Given the description of an element on the screen output the (x, y) to click on. 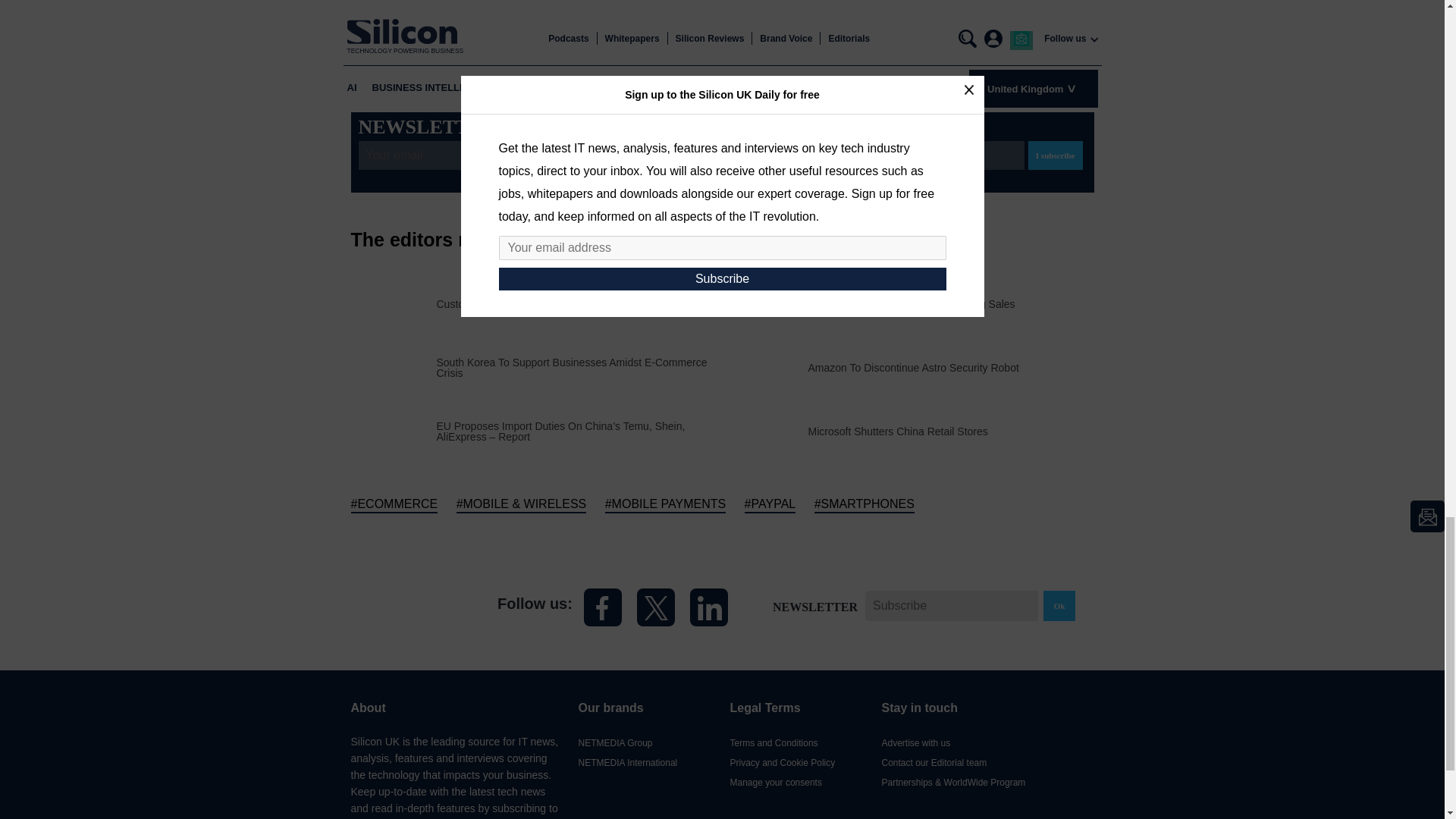
South Korea To Support Businesses Amidst E-Commerce Crisis (579, 367)
50 (705, 1)
Amazon Shares Plummet On Slowing Sales (911, 303)
Customers Flock To Shein South Africa Pop-Up Store (561, 303)
